Given the description of an element on the screen output the (x, y) to click on. 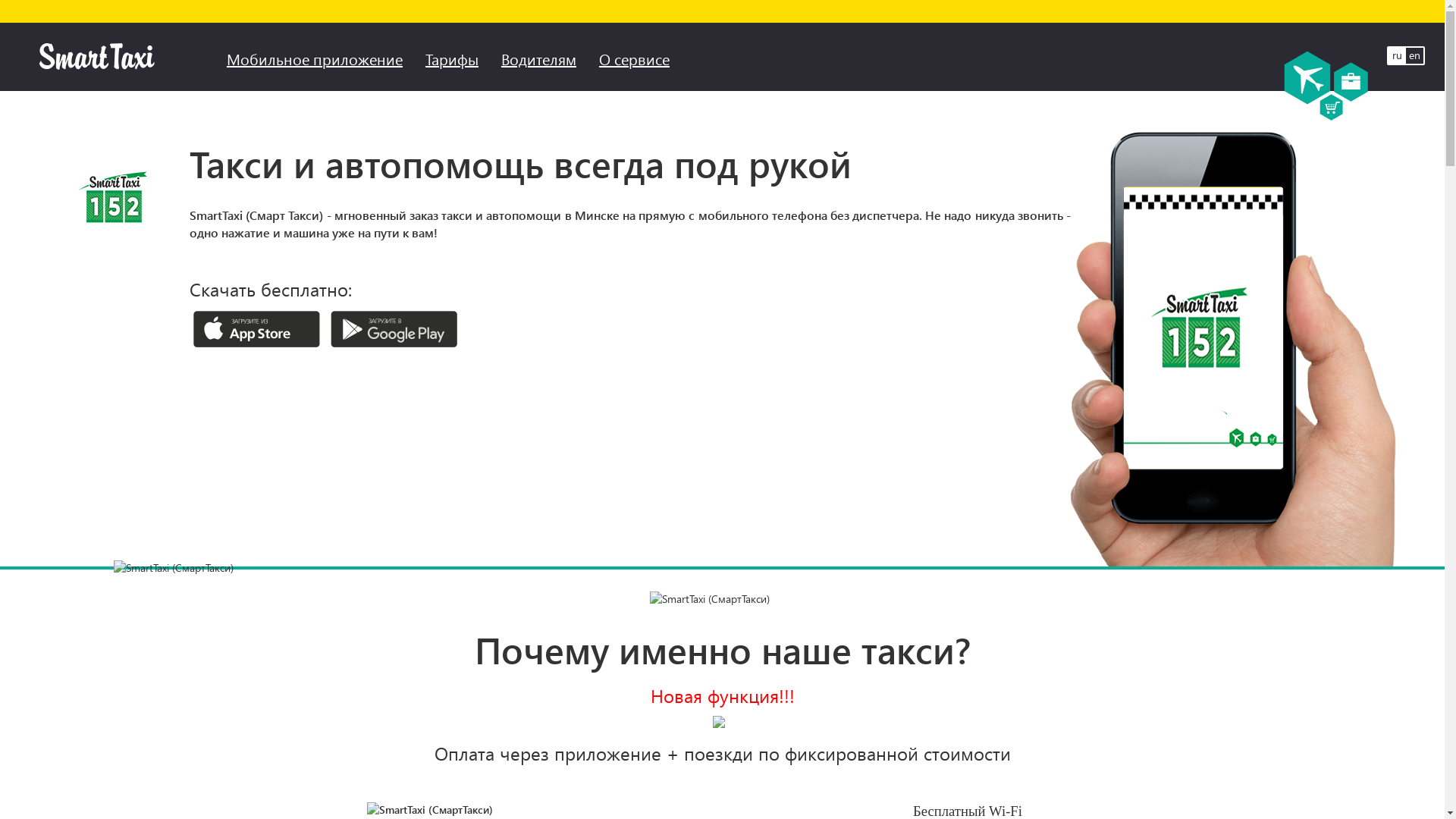
ru Element type: text (1397, 54)
en Element type: text (1414, 54)
